Given the description of an element on the screen output the (x, y) to click on. 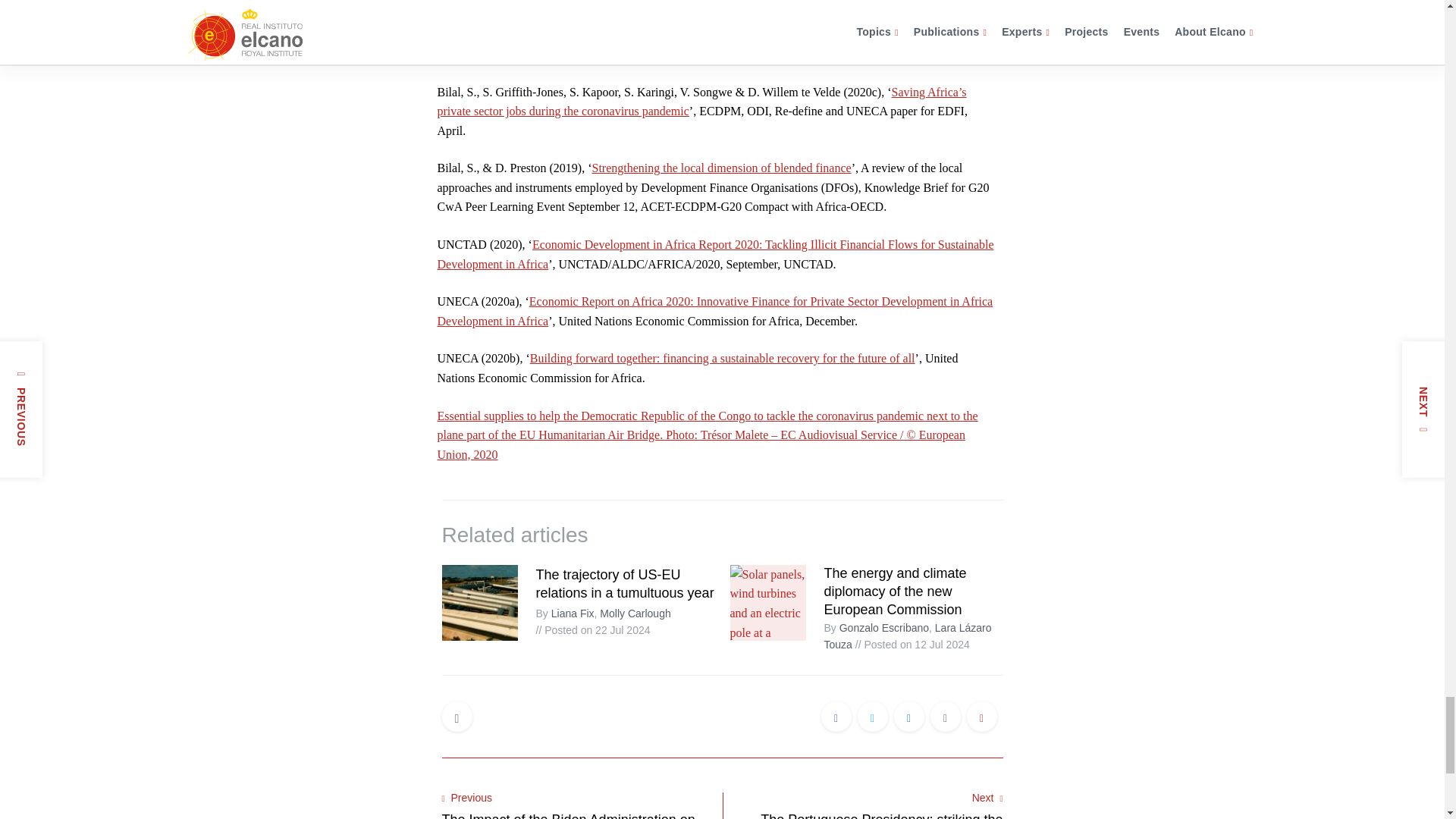
Posted on 12 Jul 2024 (912, 644)
Posted on 22 Jul 2024 (592, 630)
Copy Link (980, 717)
